Given the description of an element on the screen output the (x, y) to click on. 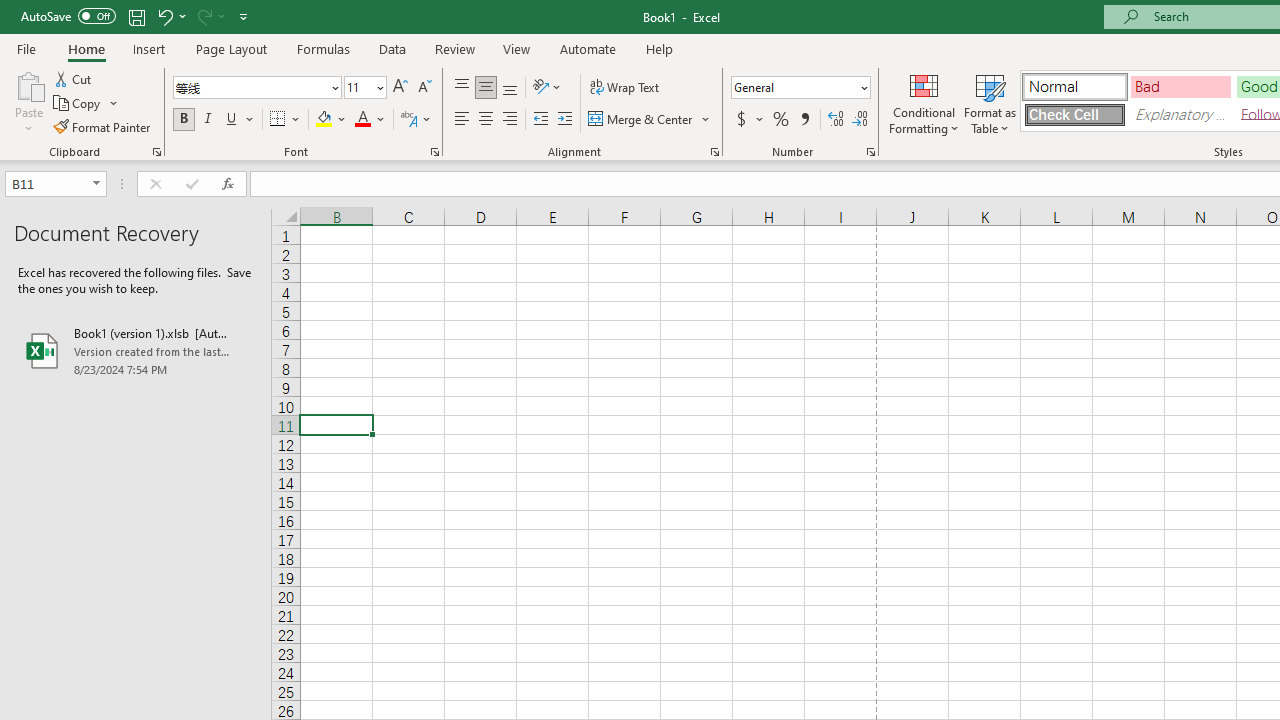
Font Color RGB(255, 0, 0) (362, 119)
Copy (85, 103)
Format Cell Number (870, 151)
Italic (207, 119)
Accounting Number Format (741, 119)
Middle Align (485, 87)
Top Align (461, 87)
Fill Color (331, 119)
Format Painter (103, 126)
Orientation (547, 87)
